Given the description of an element on the screen output the (x, y) to click on. 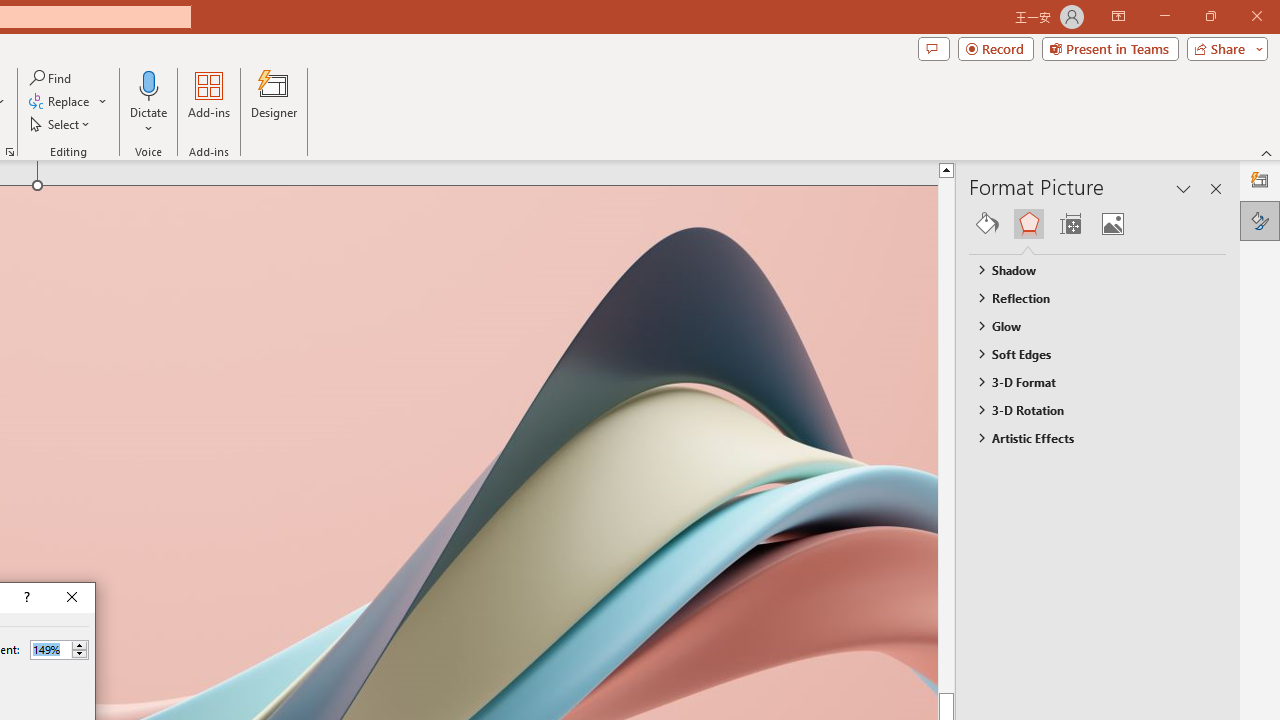
Picture (1112, 223)
Percent (59, 650)
Size & Properties (1070, 223)
Glow (1088, 325)
Fill & Line (987, 223)
